Given the description of an element on the screen output the (x, y) to click on. 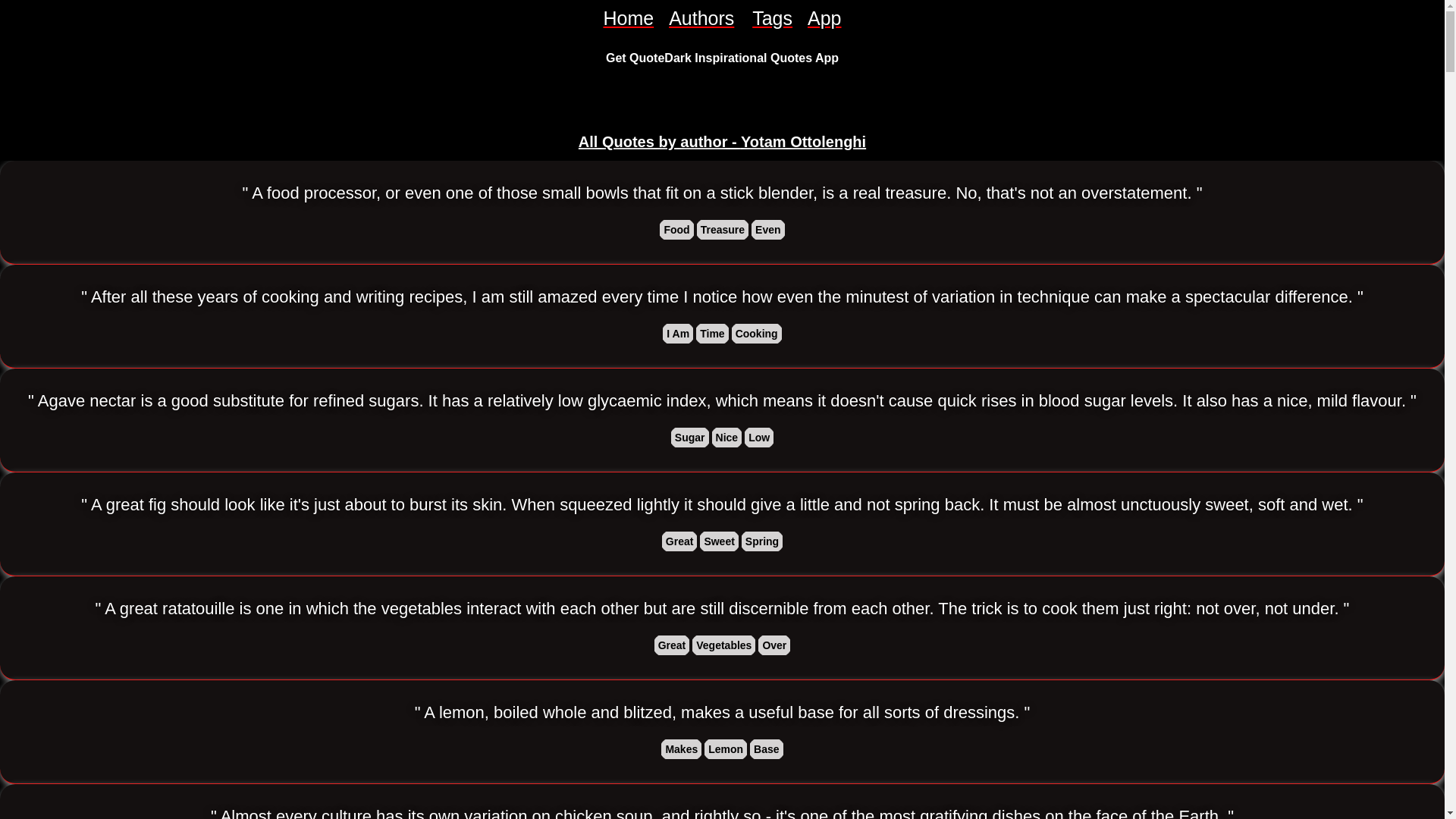
Nice (727, 436)
Treasure (722, 229)
Home (627, 18)
Food (676, 229)
Sweet (718, 540)
Base (766, 748)
Authors  (702, 18)
App (824, 18)
Great (671, 644)
